Given the description of an element on the screen output the (x, y) to click on. 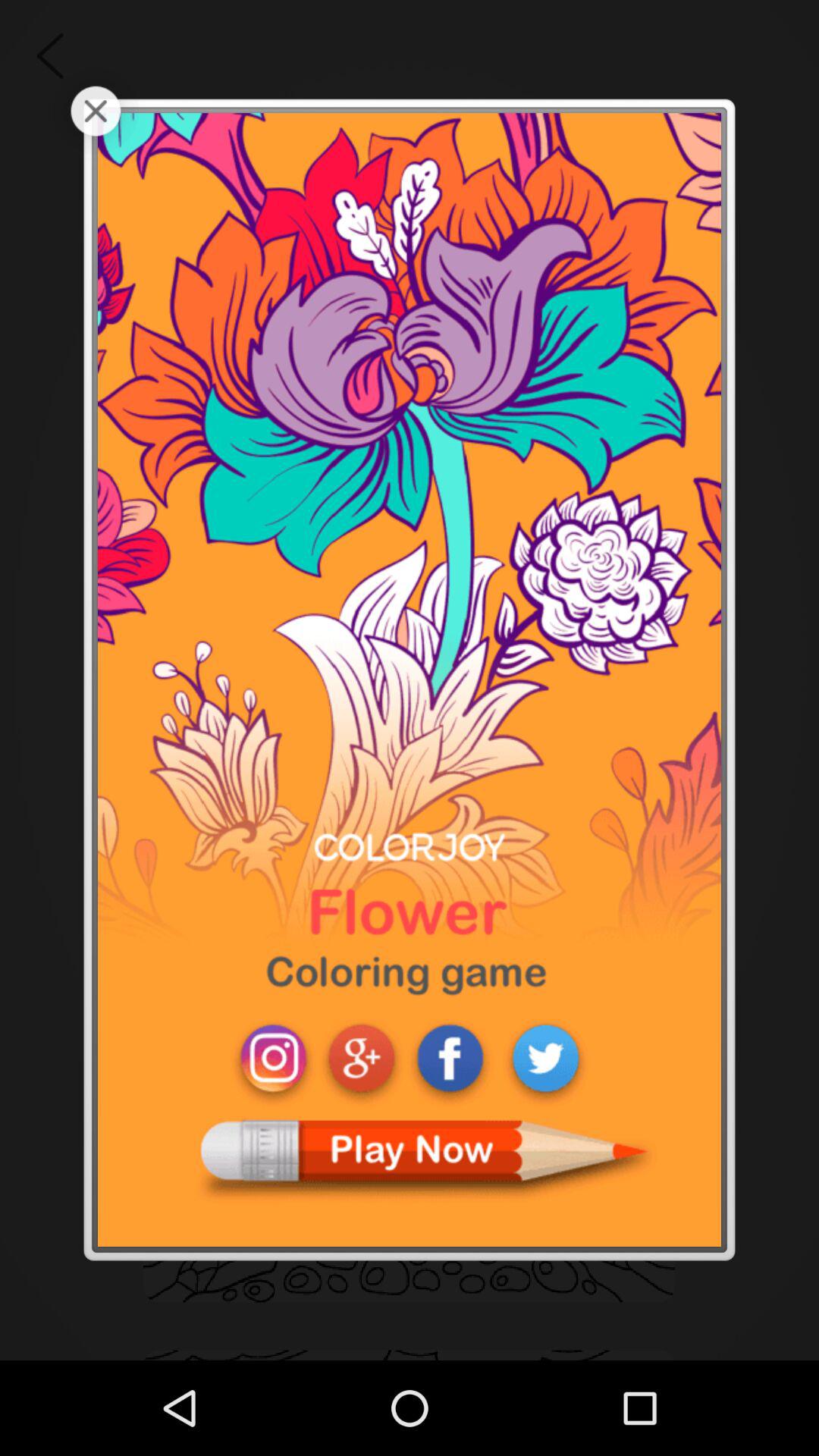
click item at the top left corner (95, 110)
